Given the description of an element on the screen output the (x, y) to click on. 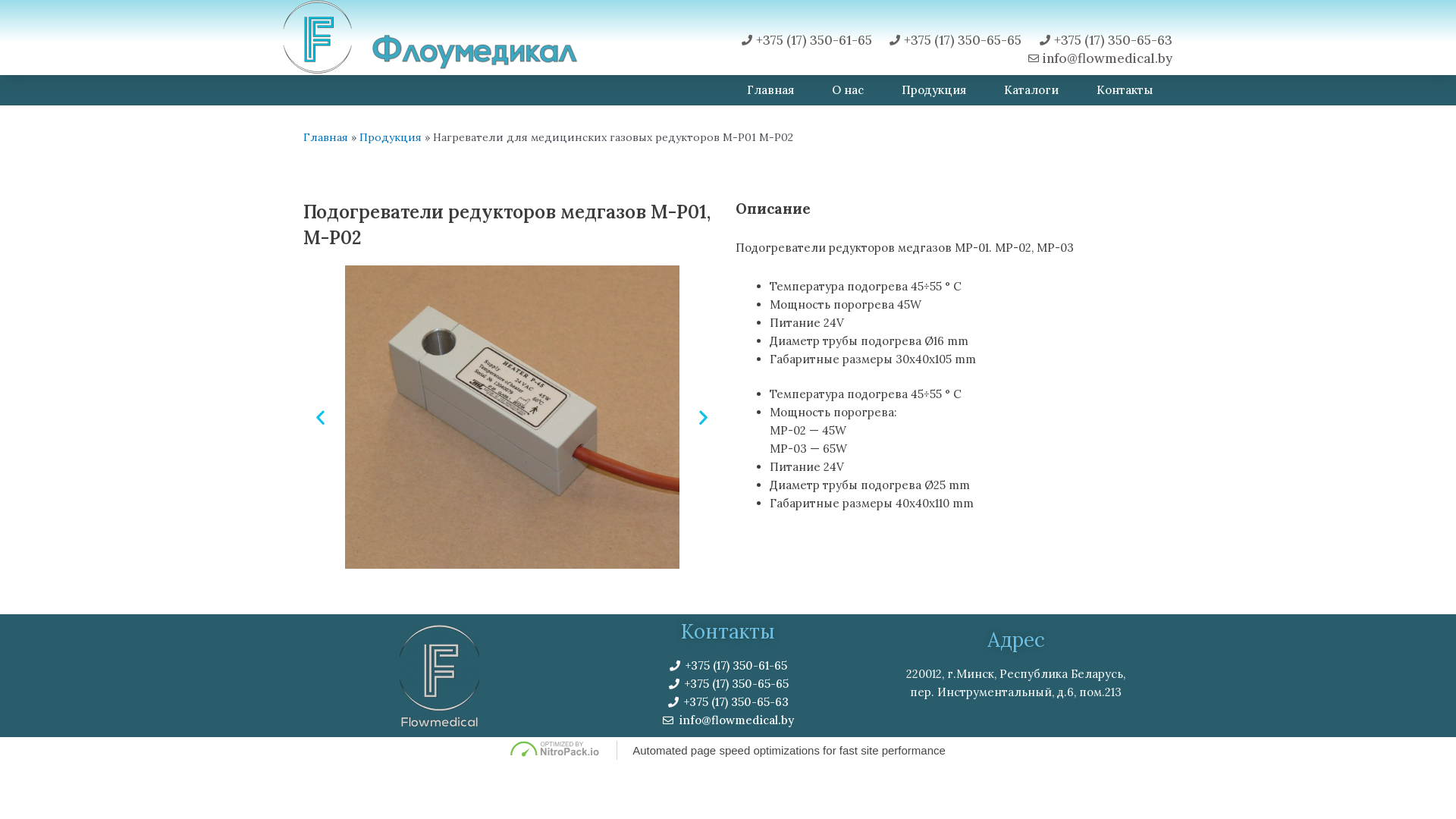
+375 (17) 350-61-65 Element type: text (727, 665)
foot3 Element type: hover (439, 675)
+375 (17) 350-65-65 Element type: text (727, 683)
+375 (17) 350-65-63 Element type: text (727, 702)
